Given the description of an element on the screen output the (x, y) to click on. 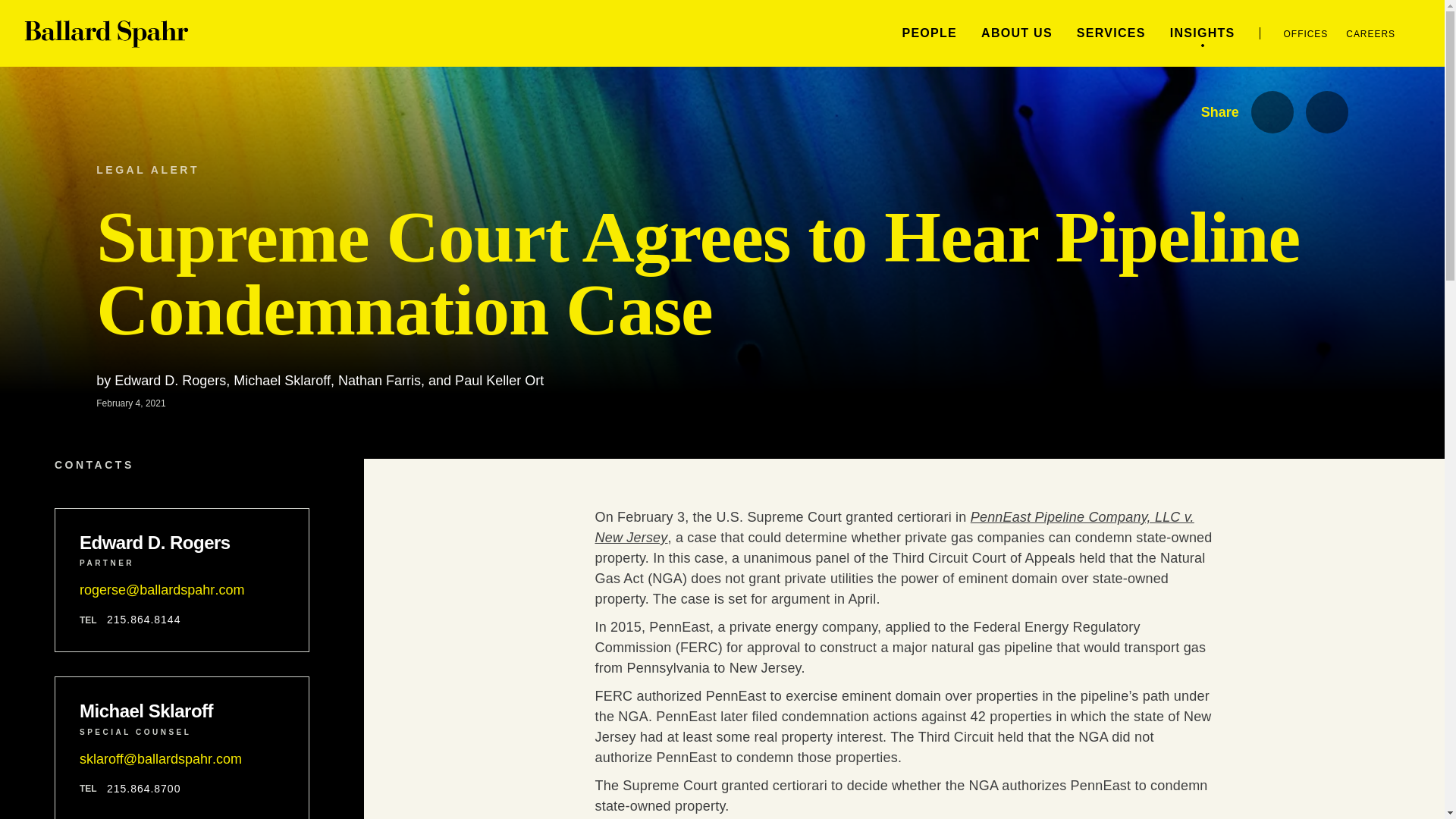
ABOUT US (1016, 32)
PEOPLE (928, 32)
INSIGHTS (1202, 32)
215.864.8700 (143, 789)
Edward D. Rogers (181, 542)
Michael Sklaroff (181, 711)
CAREERS (1369, 33)
SERVICES (1111, 32)
PennEast Pipeline Company, LLC v. New Jersey (893, 527)
215.864.8144 (143, 619)
